Given the description of an element on the screen output the (x, y) to click on. 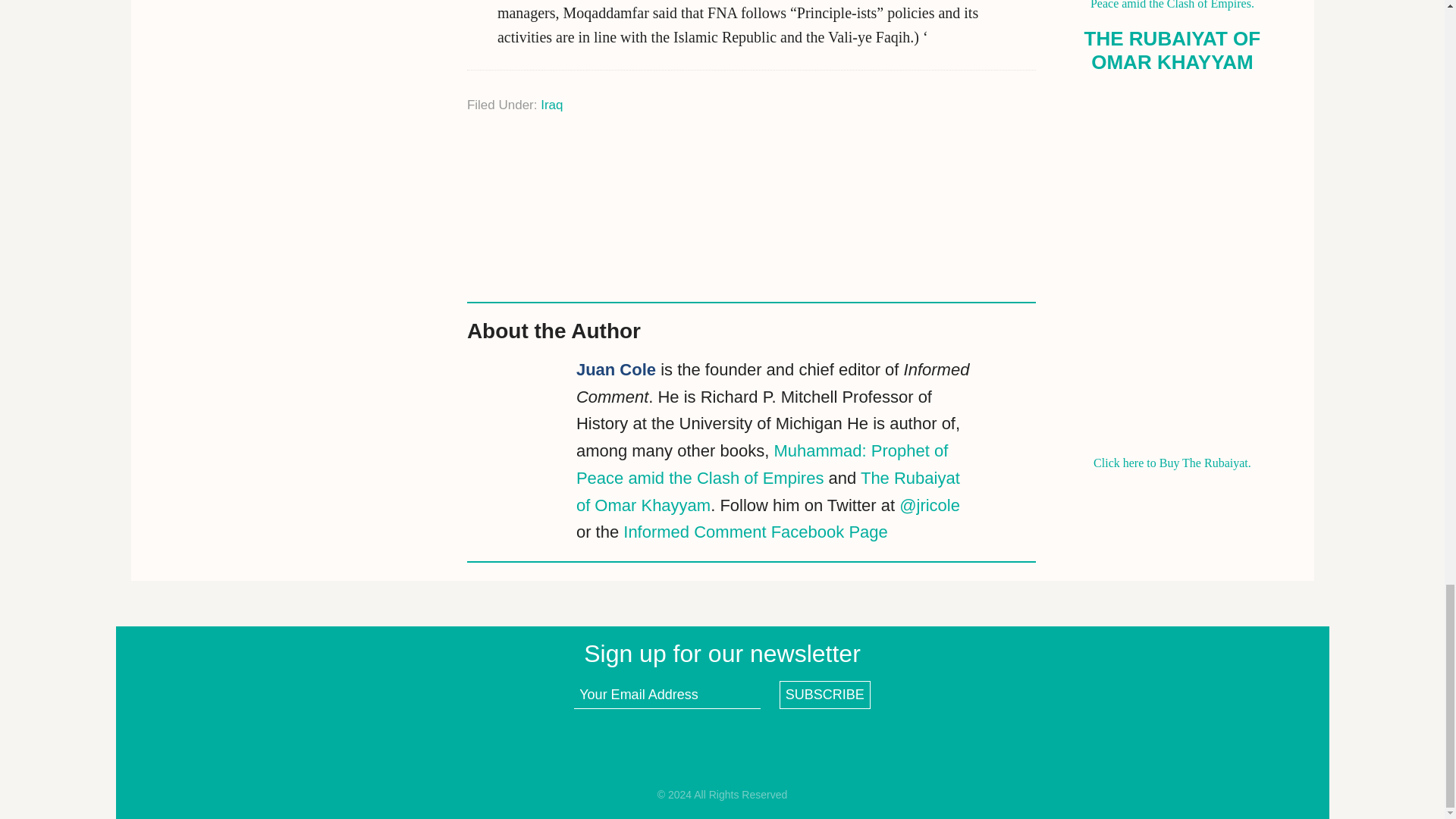
Juan Cole (616, 369)
Informed Comment Facebook Page (755, 531)
Iraq (551, 104)
Muhammad: Prophet of Peace amid the Clash of Empires (761, 464)
subscribe (824, 694)
The Rubaiyat of Omar Khayyam (767, 491)
